Given the description of an element on the screen output the (x, y) to click on. 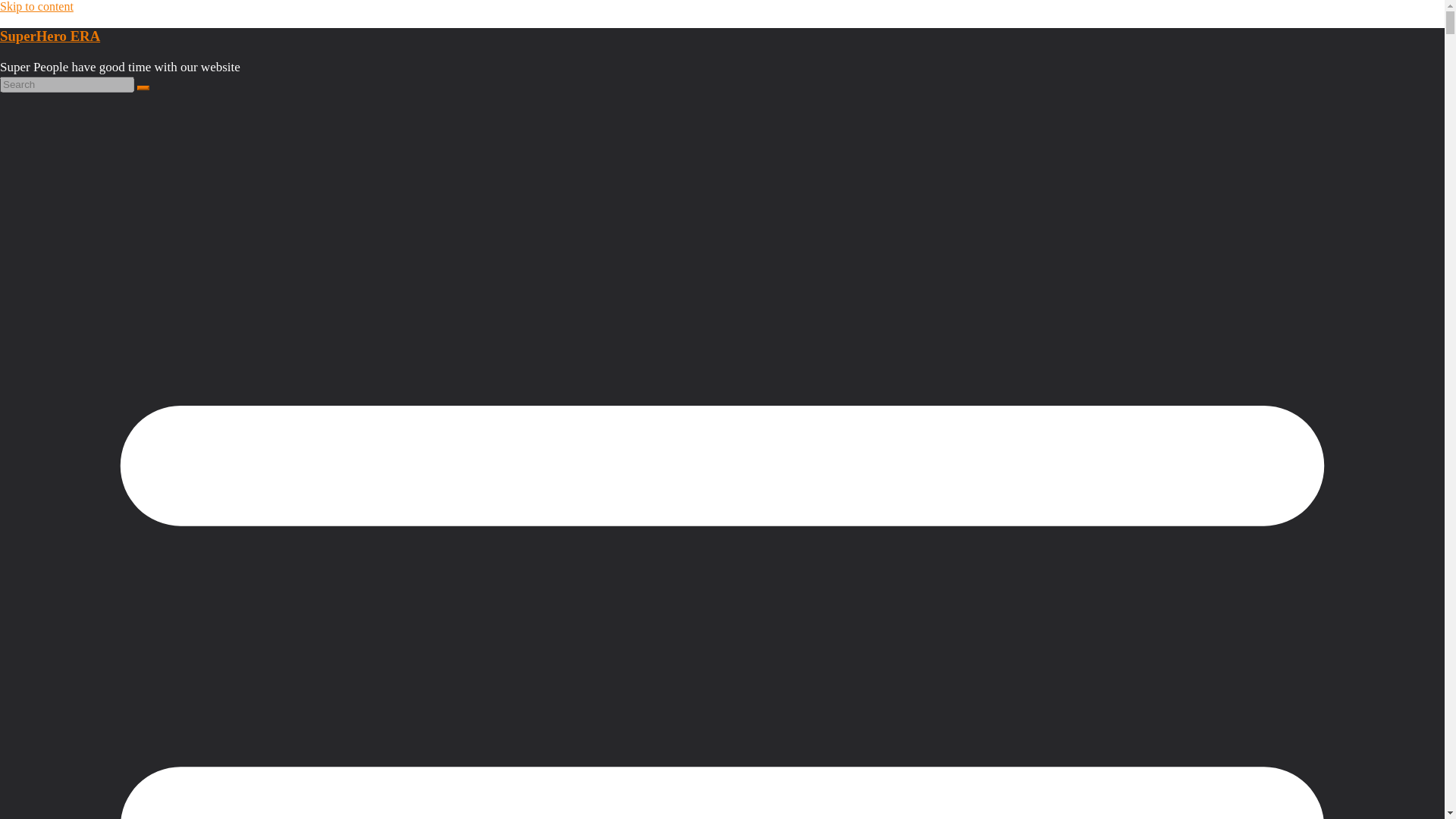
SuperHero ERA (50, 35)
SuperHero ERA (50, 35)
Skip to content (37, 6)
